Given the description of an element on the screen output the (x, y) to click on. 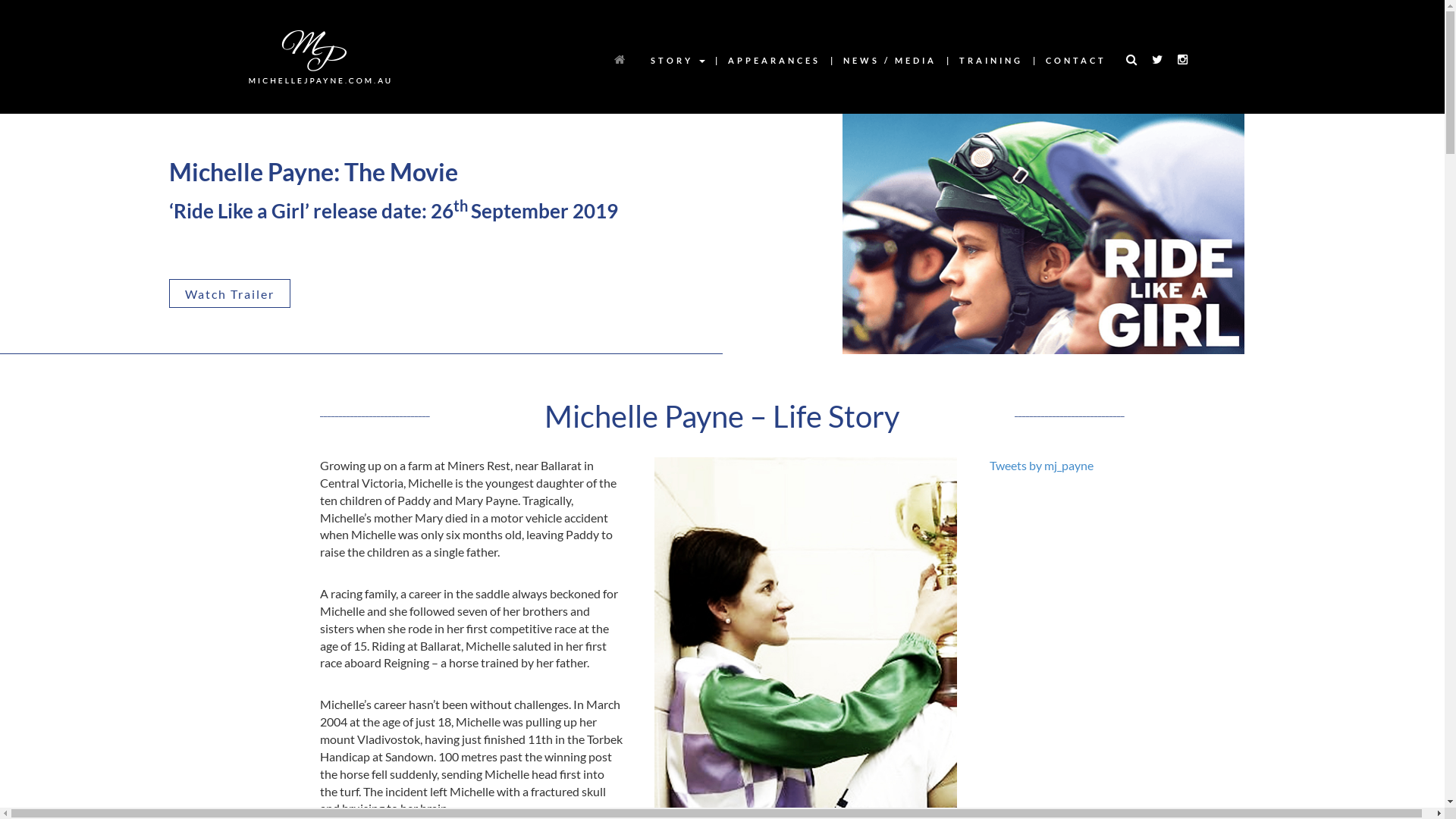
NEWS / MEDIA Element type: text (889, 60)
Watch Trailer Element type: text (228, 293)
TRAINING Element type: text (990, 60)
Tweets by mj_payne Element type: text (1041, 465)
CONTACT Element type: text (1075, 60)
APPEARANCES Element type: text (773, 60)
STORY Element type: text (676, 60)
